Given the description of an element on the screen output the (x, y) to click on. 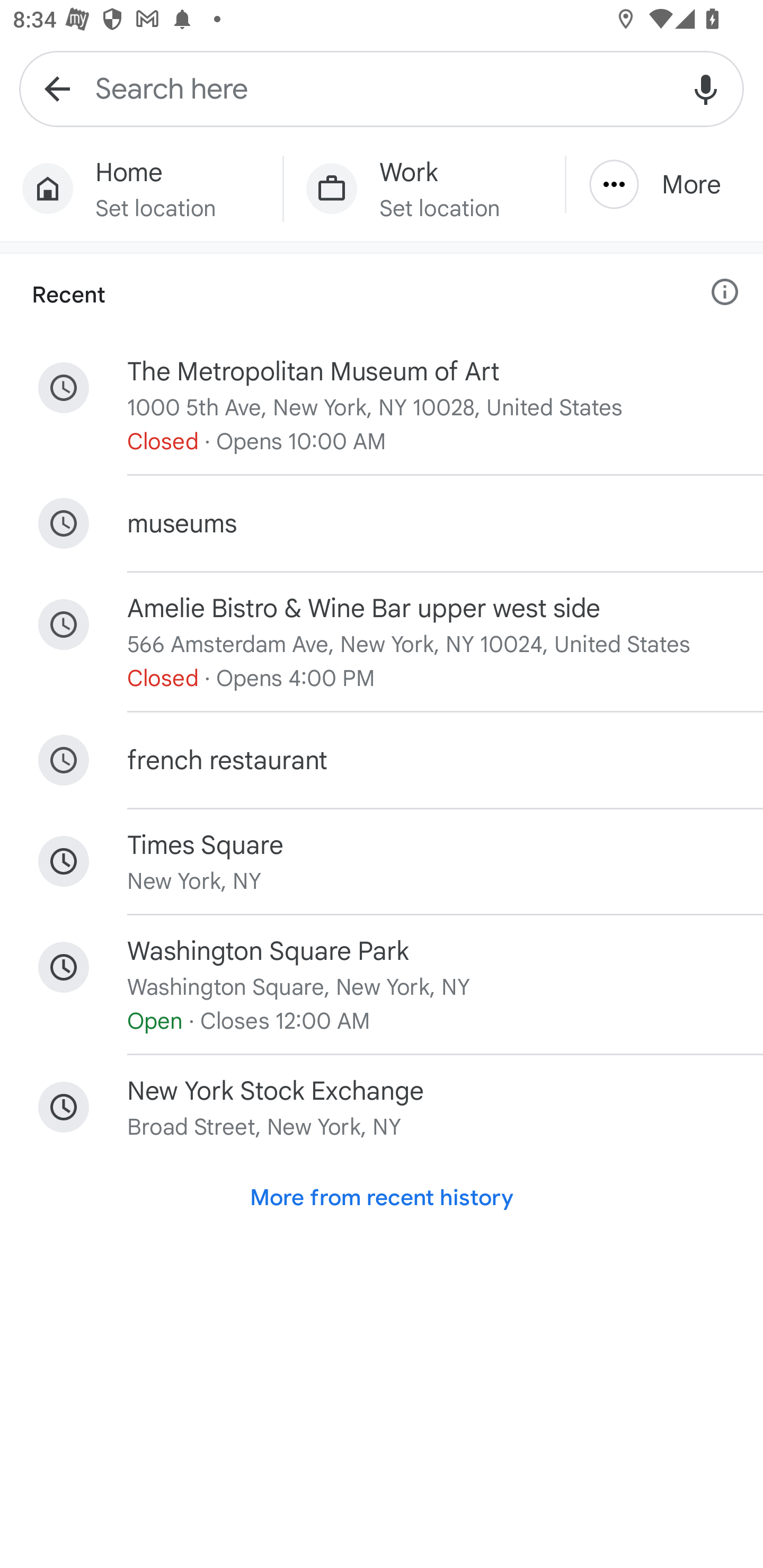
Navigate up (57, 88)
Search here (381, 88)
Voice search (705, 88)
Home Set location (141, 188)
Work Set location (423, 188)
More (664, 184)
museums (381, 522)
french restaurant (381, 759)
Times Square New York, NY (381, 861)
New York Stock Exchange Broad Street, New York, NY (381, 1107)
More from recent history (381, 1197)
